Given the description of an element on the screen output the (x, y) to click on. 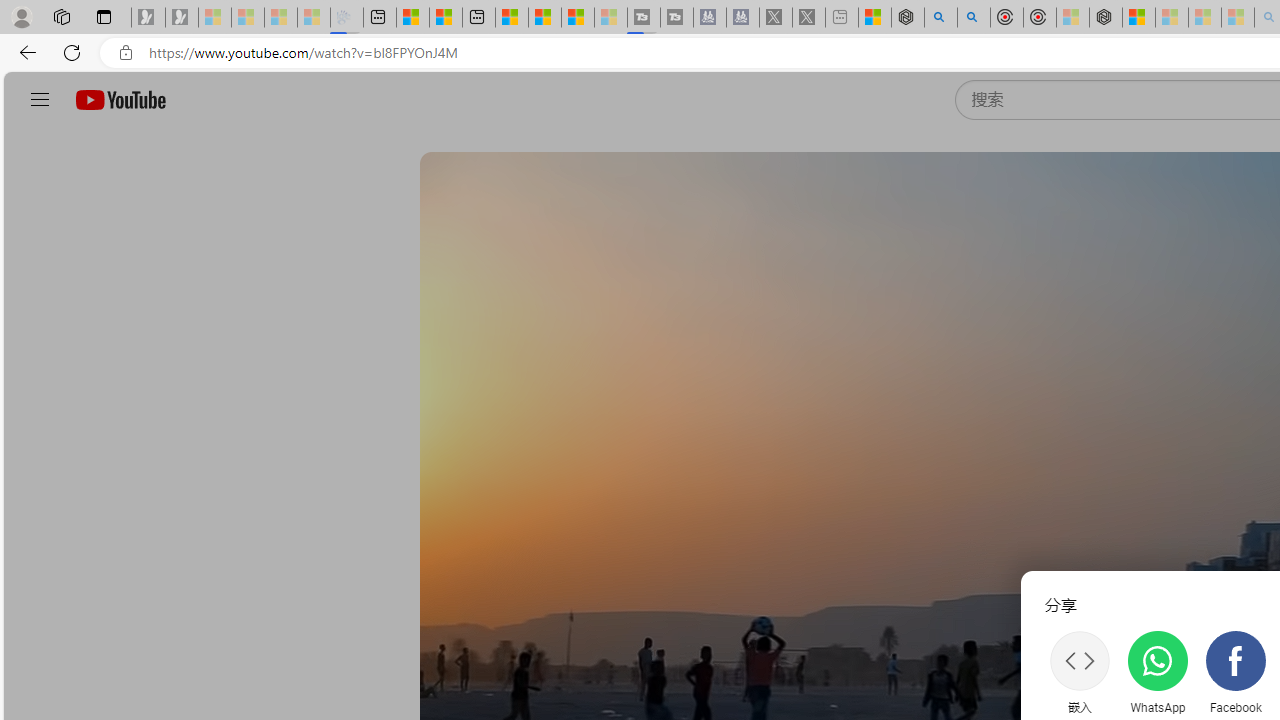
WhatsApp (1157, 672)
